Given the description of an element on the screen output the (x, y) to click on. 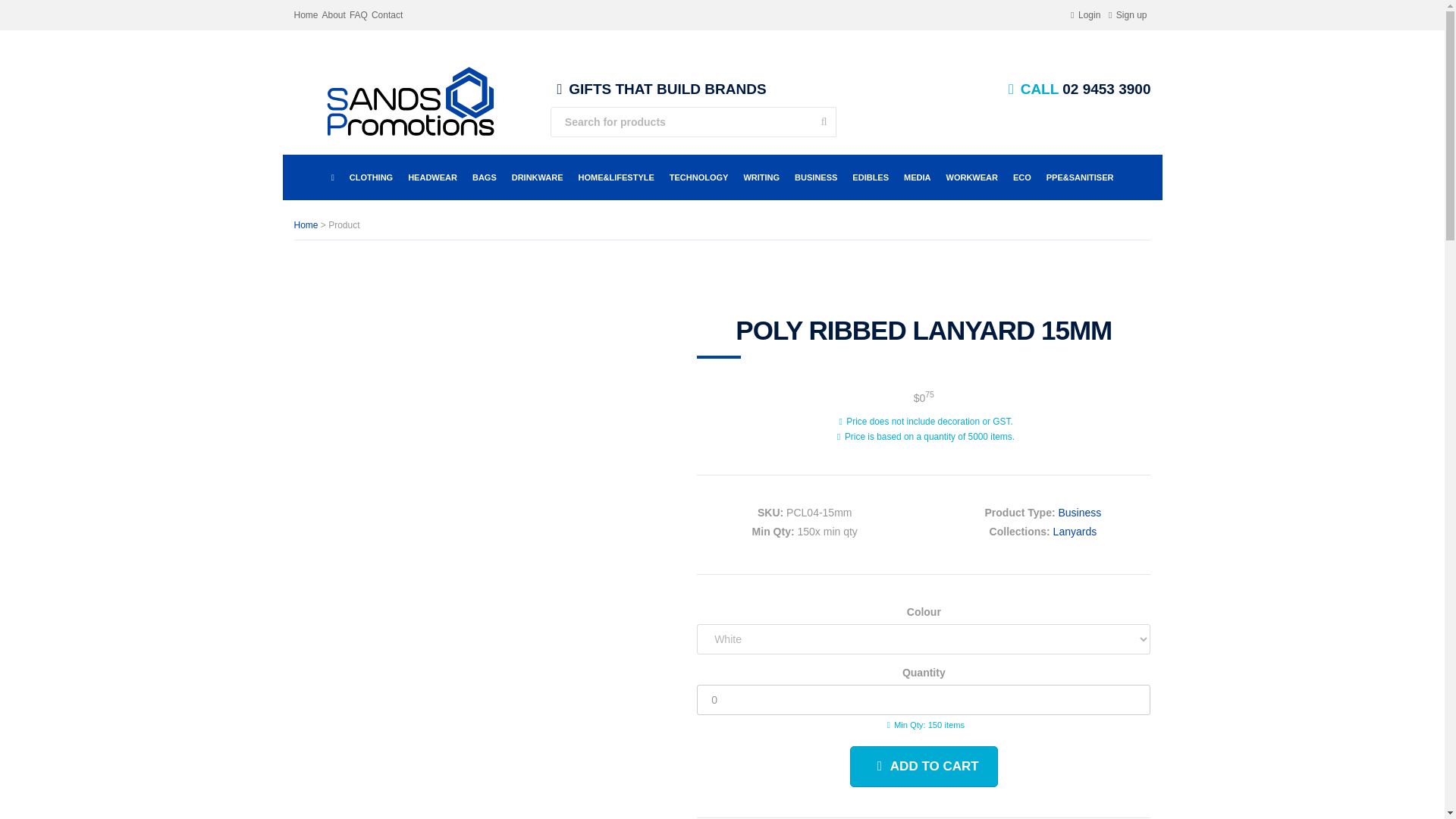
WRITING (761, 177)
Login (1083, 13)
FAQ (358, 13)
Lanyards (1074, 531)
0 (923, 699)
DRINKWARE (536, 177)
BUSINESS (815, 177)
EDIBLES (870, 177)
Sign up (1125, 13)
Home (306, 225)
